Given the description of an element on the screen output the (x, y) to click on. 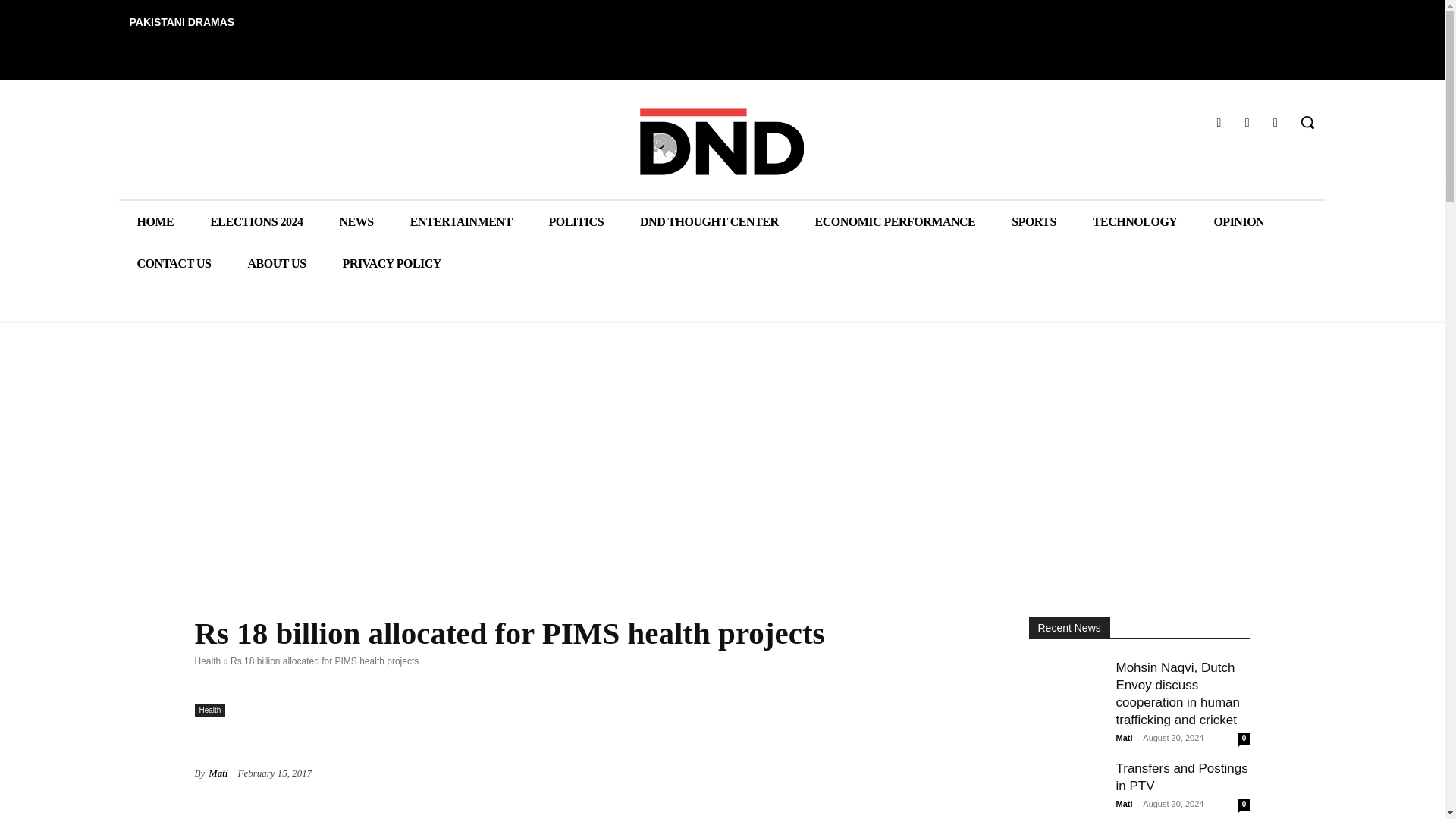
DND THOUGHT CENTER (708, 221)
PAKISTANI DRAMAS (180, 22)
NEWS (356, 221)
Twitter (1275, 122)
PRIVACY POLICY (392, 263)
ABOUT US (275, 263)
OPINION (1238, 221)
ECONOMIC PERFORMANCE (894, 221)
CONTACT US (172, 263)
POLITICS (576, 221)
